Given the description of an element on the screen output the (x, y) to click on. 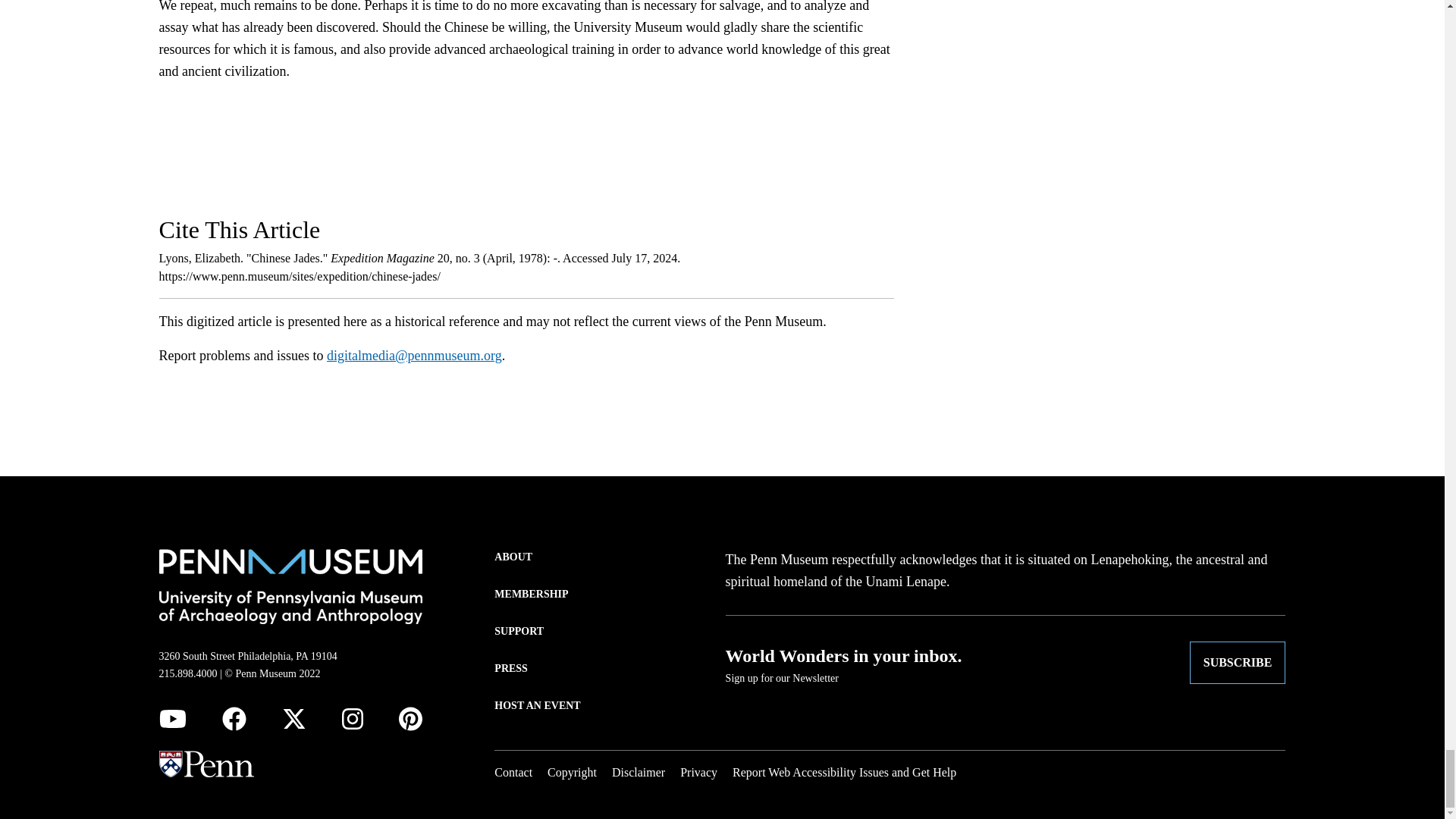
HOST AN EVENT (537, 705)
MEMBERSHIP (531, 593)
SUBSCRIBE (1237, 661)
Youtube (172, 718)
Facebook (234, 718)
Disclaimer (638, 772)
Report Web Accessibility Issues and Get Help (844, 772)
215.898.4000 (187, 673)
Copyright (571, 772)
Contact (513, 772)
Instagram (352, 718)
Contact (513, 772)
Copyright (571, 772)
SUPPORT (519, 631)
Twitter (293, 718)
